Given the description of an element on the screen output the (x, y) to click on. 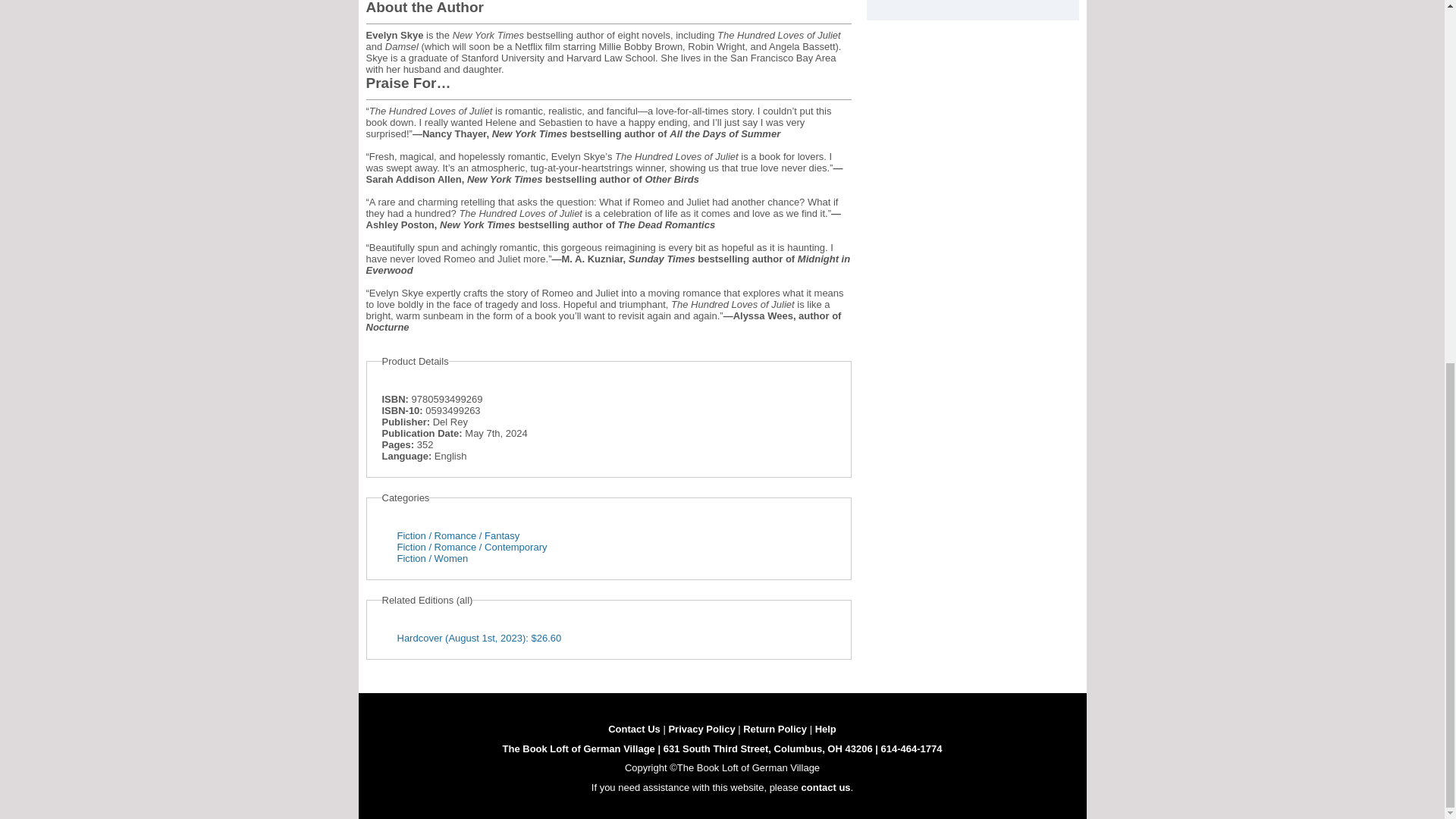
Return Policy (774, 728)
Contact Us (634, 728)
contact us (826, 786)
Privacy Policy (701, 728)
Help (825, 728)
